Given the description of an element on the screen output the (x, y) to click on. 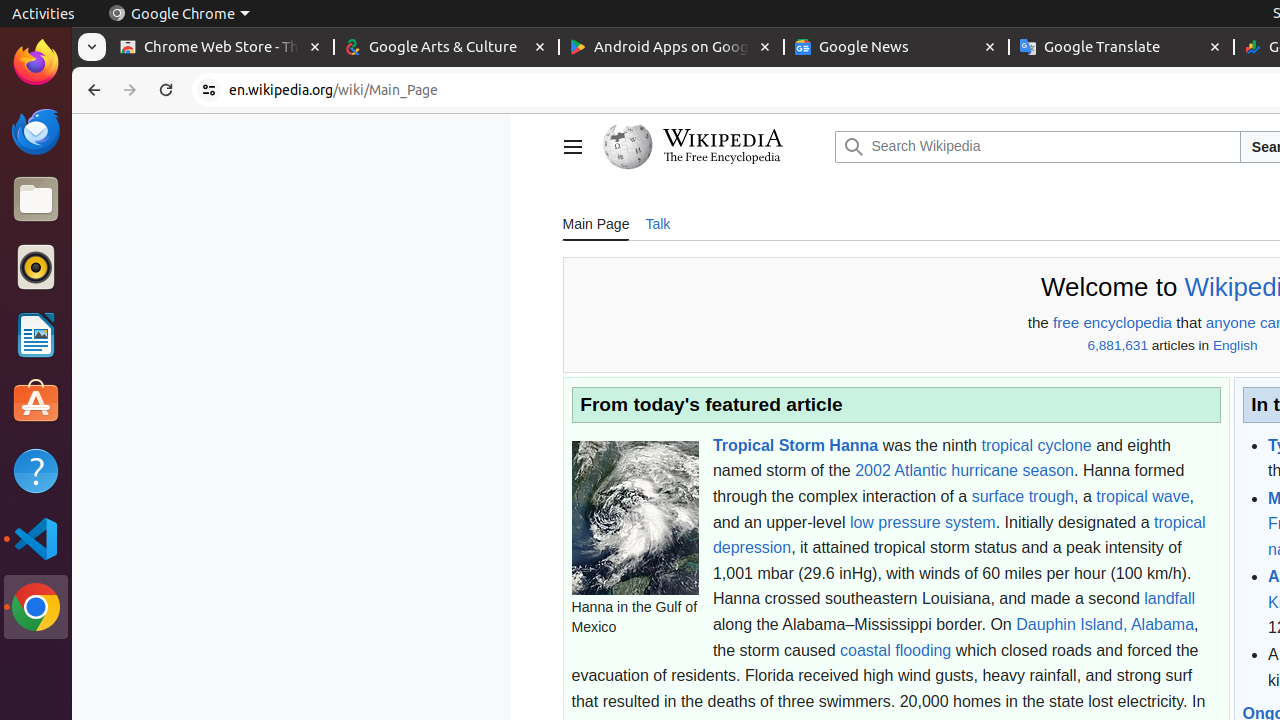
LibreOffice Writer Element type: push-button (36, 334)
Firefox Web Browser Element type: push-button (36, 63)
low pressure system Element type: link (922, 522)
Main Page Element type: link (596, 223)
Reload Element type: push-button (166, 90)
